Given the description of an element on the screen output the (x, y) to click on. 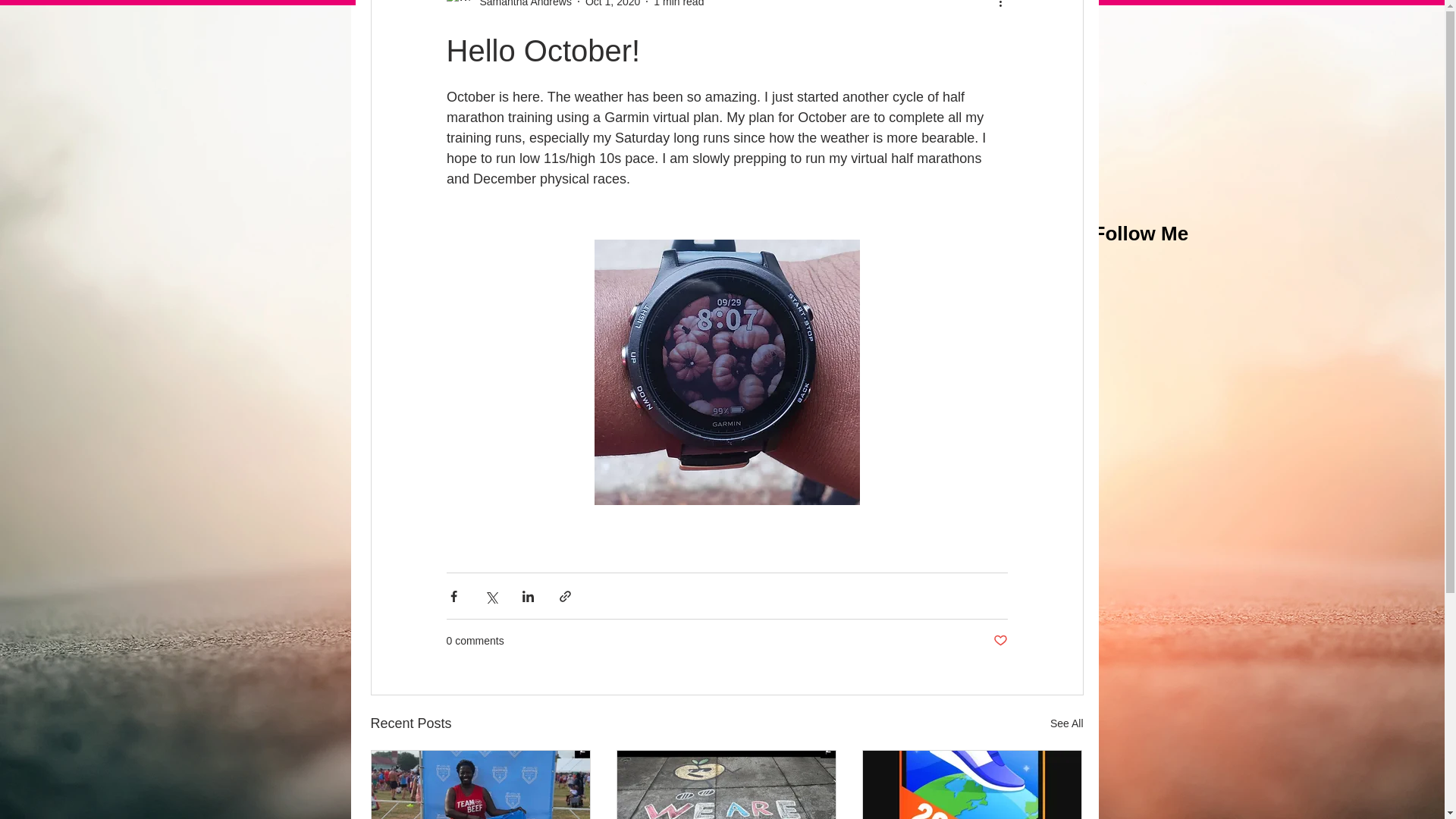
Running Resources (822, 16)
Post not marked as liked (999, 641)
See All (1066, 723)
Oct 1, 2020 (612, 3)
Blog (504, 16)
50 States Jouney (707, 16)
1 min read (678, 3)
Race Resume (929, 16)
Twitter Follow (1148, 453)
2024 Race Schedule (589, 16)
Samantha Andrews (520, 4)
